Given the description of an element on the screen output the (x, y) to click on. 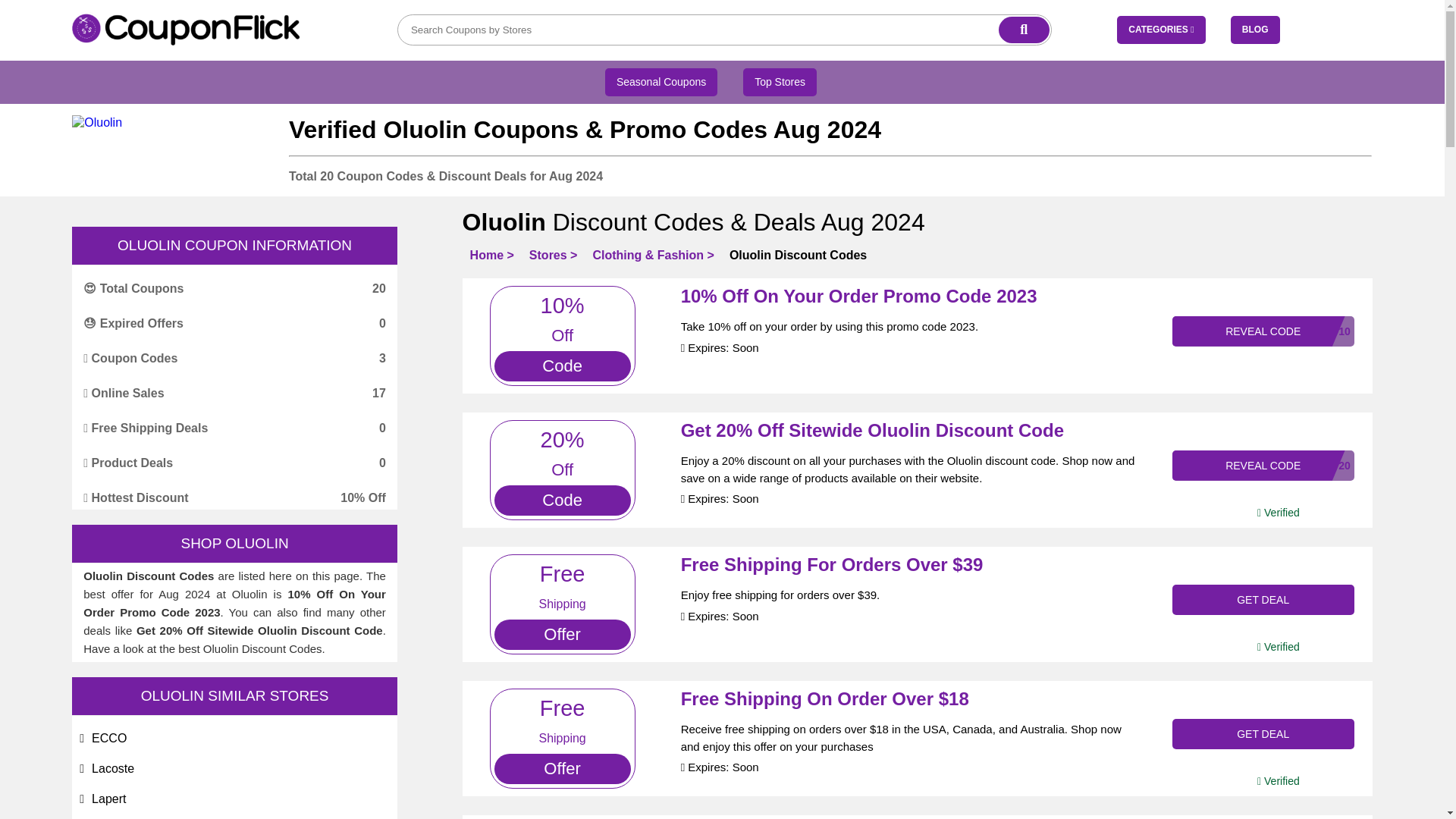
Top Stores (779, 81)
search button (1023, 29)
BLOG (1254, 29)
Lacoste (112, 768)
Seasonal Coupons (660, 81)
OLUOLIN (256, 543)
Oluolin Coupon Codes and Deals (96, 122)
Lapert (108, 798)
ECCO (108, 738)
